Given the description of an element on the screen output the (x, y) to click on. 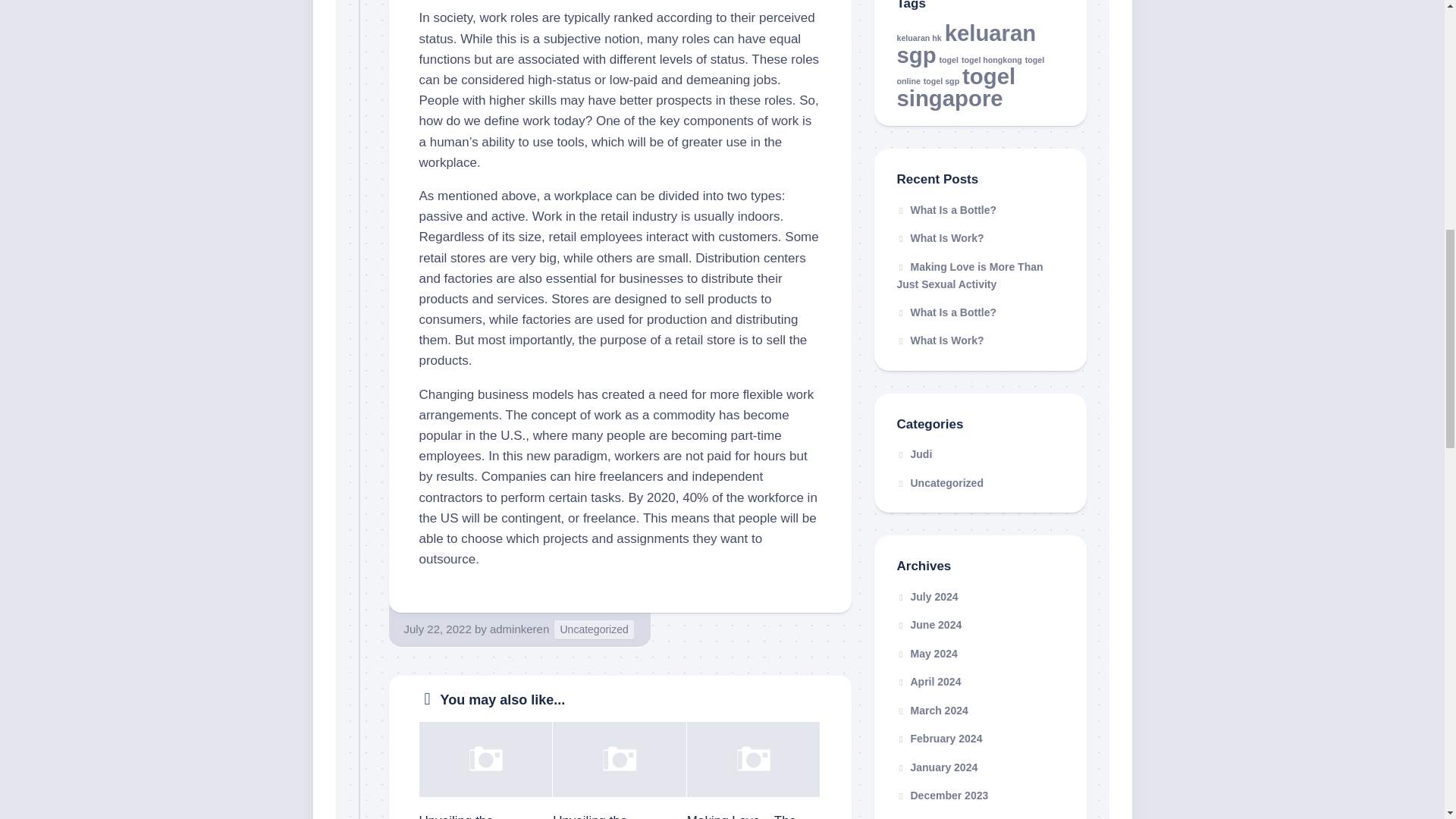
togel hongkong (991, 58)
togel online (969, 69)
togel sgp (941, 80)
togel (948, 58)
Posts by adminkeren (518, 628)
adminkeren (518, 628)
keluaran hk (918, 37)
Uncategorized (593, 629)
keluaran sgp (965, 43)
